Given the description of an element on the screen output the (x, y) to click on. 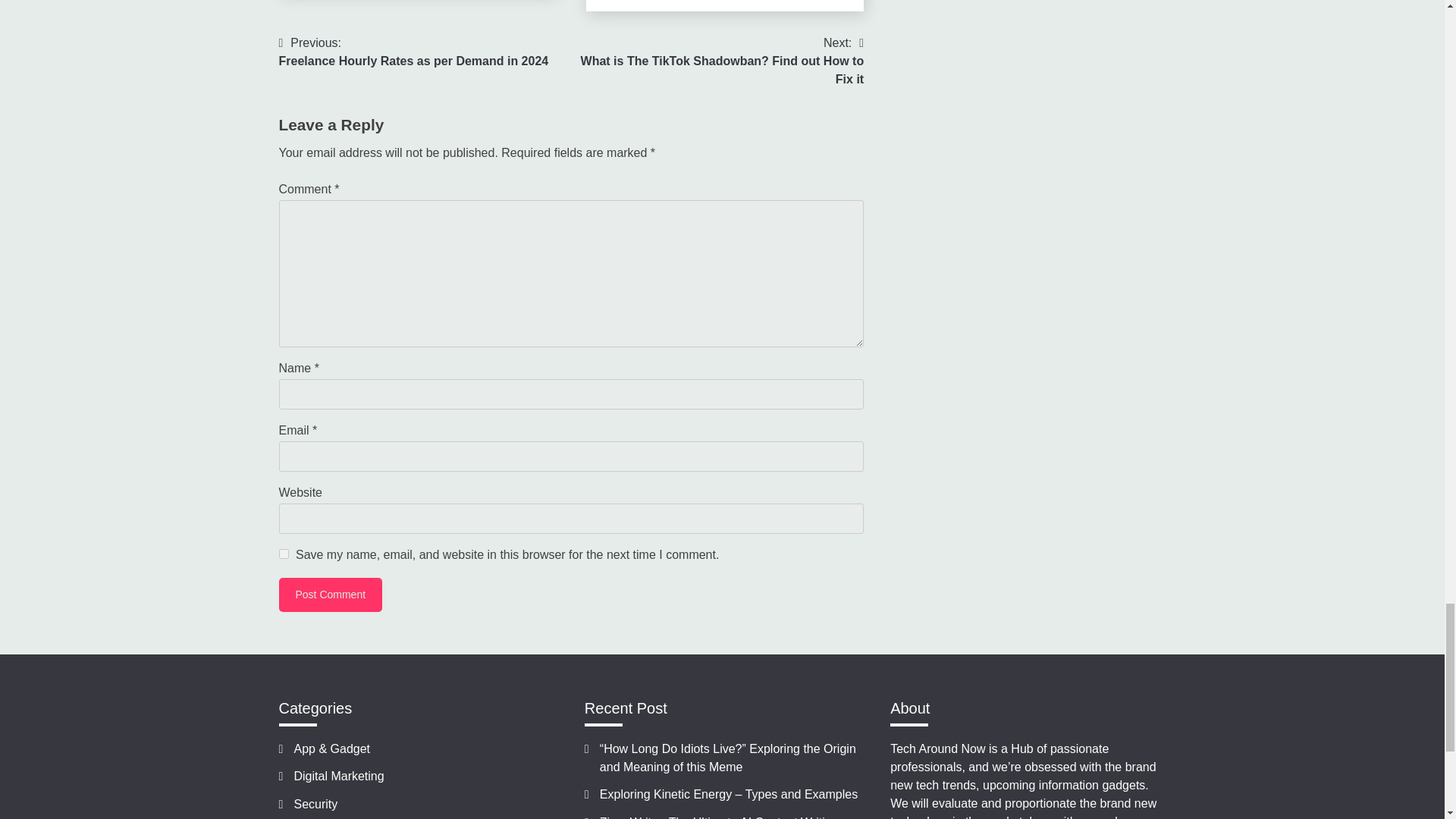
Post Comment (330, 594)
yes (283, 553)
